Given the description of an element on the screen output the (x, y) to click on. 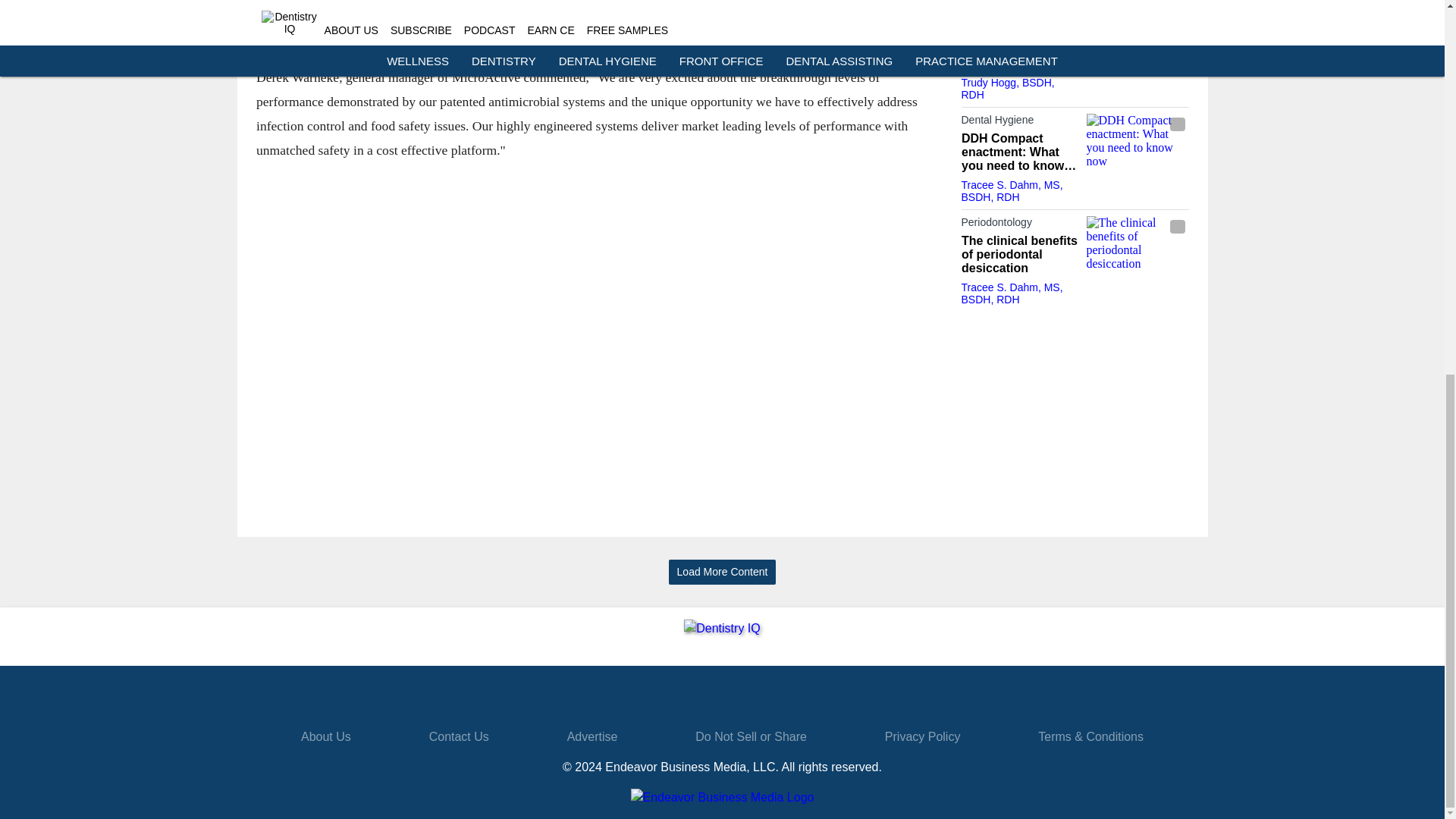
Dental Hygiene (1019, 122)
Career Development (1019, 34)
Tracee S. Dahm, MS, BSDH, RDH (1011, 191)
4 tips for your best job interview (1019, 56)
The clinical benefits of periodontal desiccation (1137, 244)
DDH Compact enactment: What you need to know now (1137, 141)
DDH Compact enactment: What you need to know now (1019, 151)
Trudy Hogg, BSDH, RDH (1007, 88)
